Given the description of an element on the screen output the (x, y) to click on. 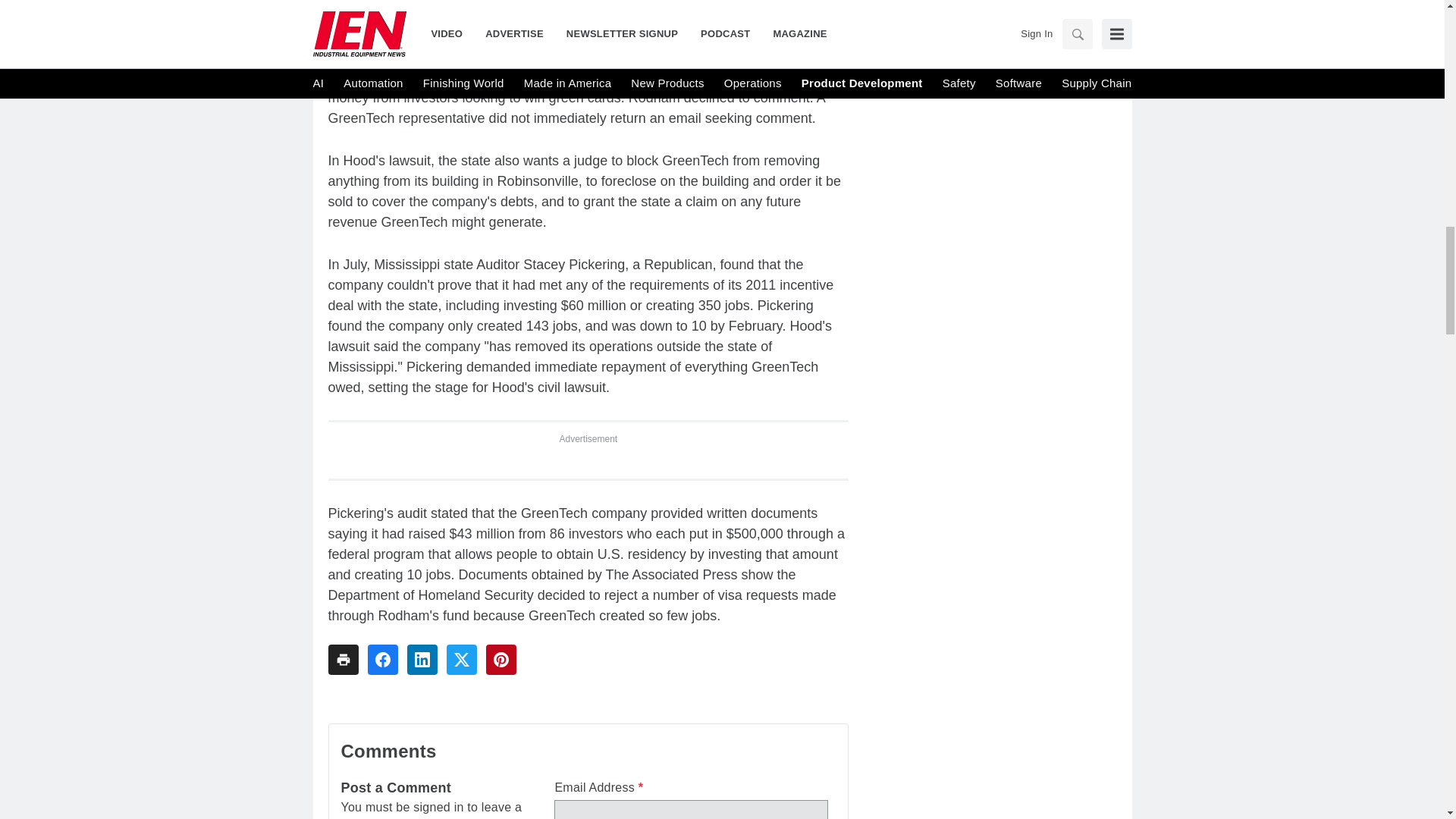
Share To facebook (381, 659)
Share To linkedin (421, 659)
Share To twitter (460, 659)
Share To pinterest (499, 659)
Share To print (342, 659)
